Given the description of an element on the screen output the (x, y) to click on. 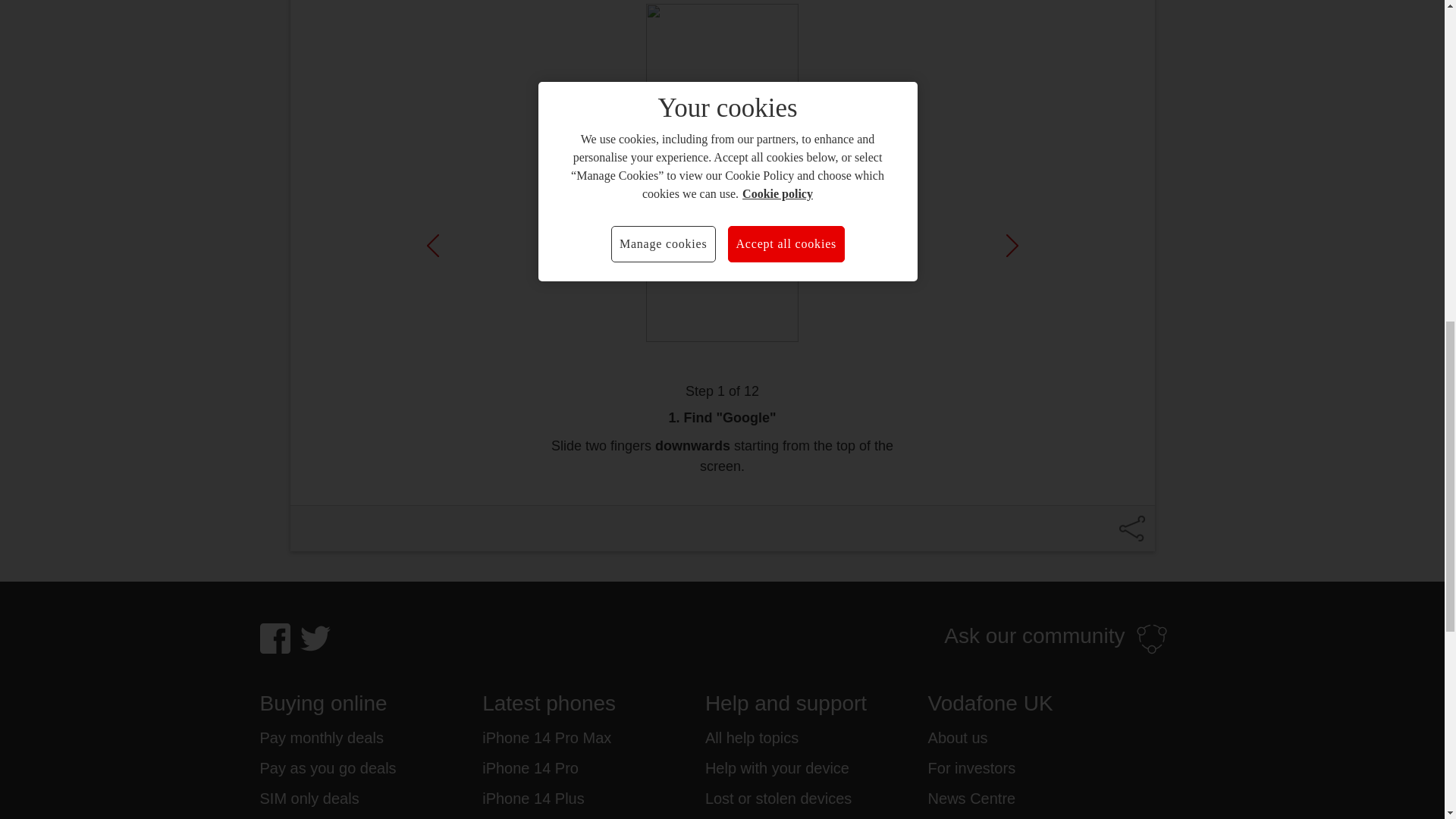
Ask our community (1055, 638)
Facebook (274, 638)
Buying online (370, 703)
Pay monthly deals (320, 737)
Pay as you go deals (327, 768)
SIM only deals (308, 798)
Twitter (314, 638)
